Given the description of an element on the screen output the (x, y) to click on. 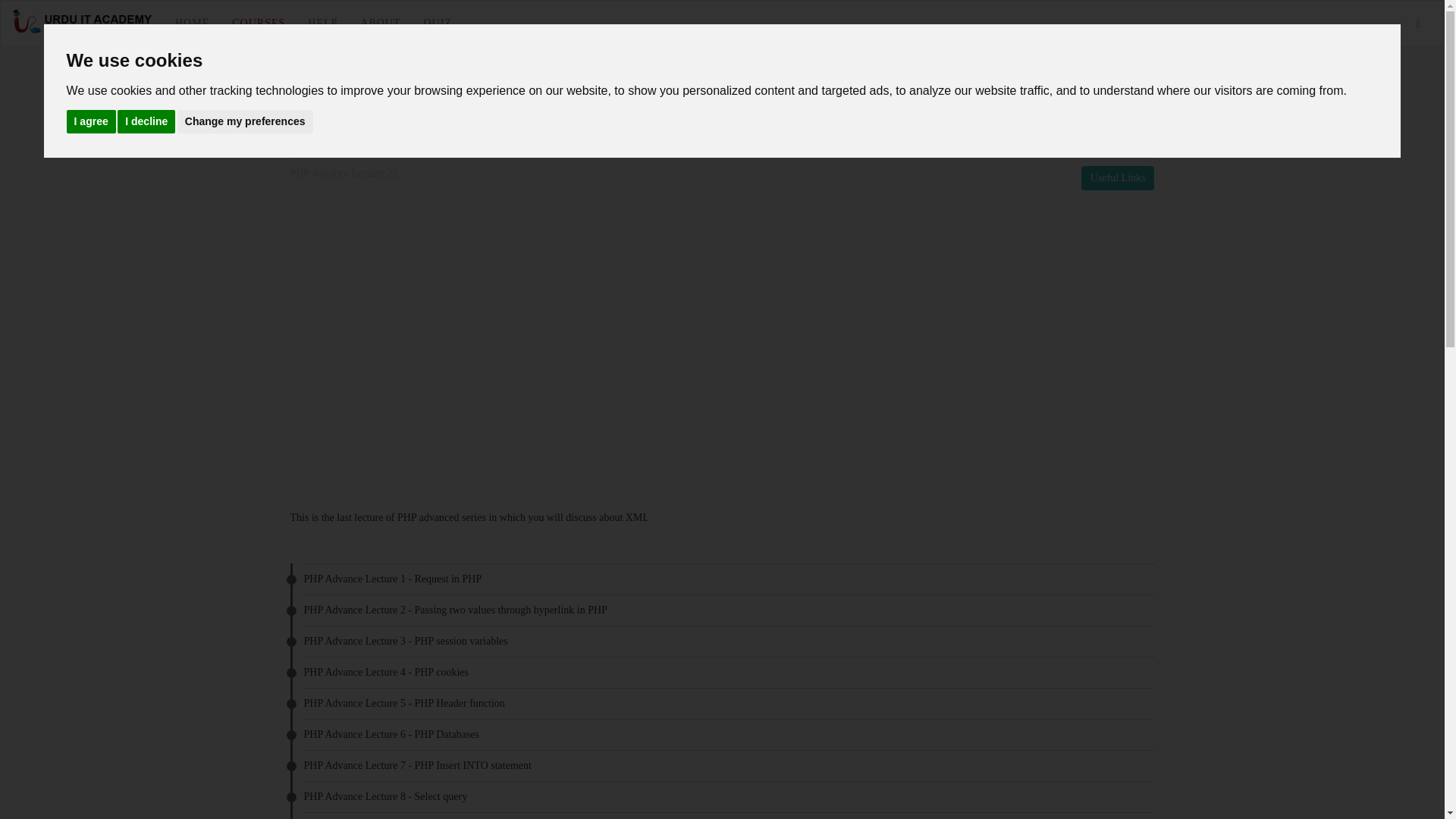
I agree (91, 121)
I decline (145, 121)
COURSES (259, 22)
Change my preferences (245, 121)
HOME (192, 22)
Advertisement (980, 355)
